Given the description of an element on the screen output the (x, y) to click on. 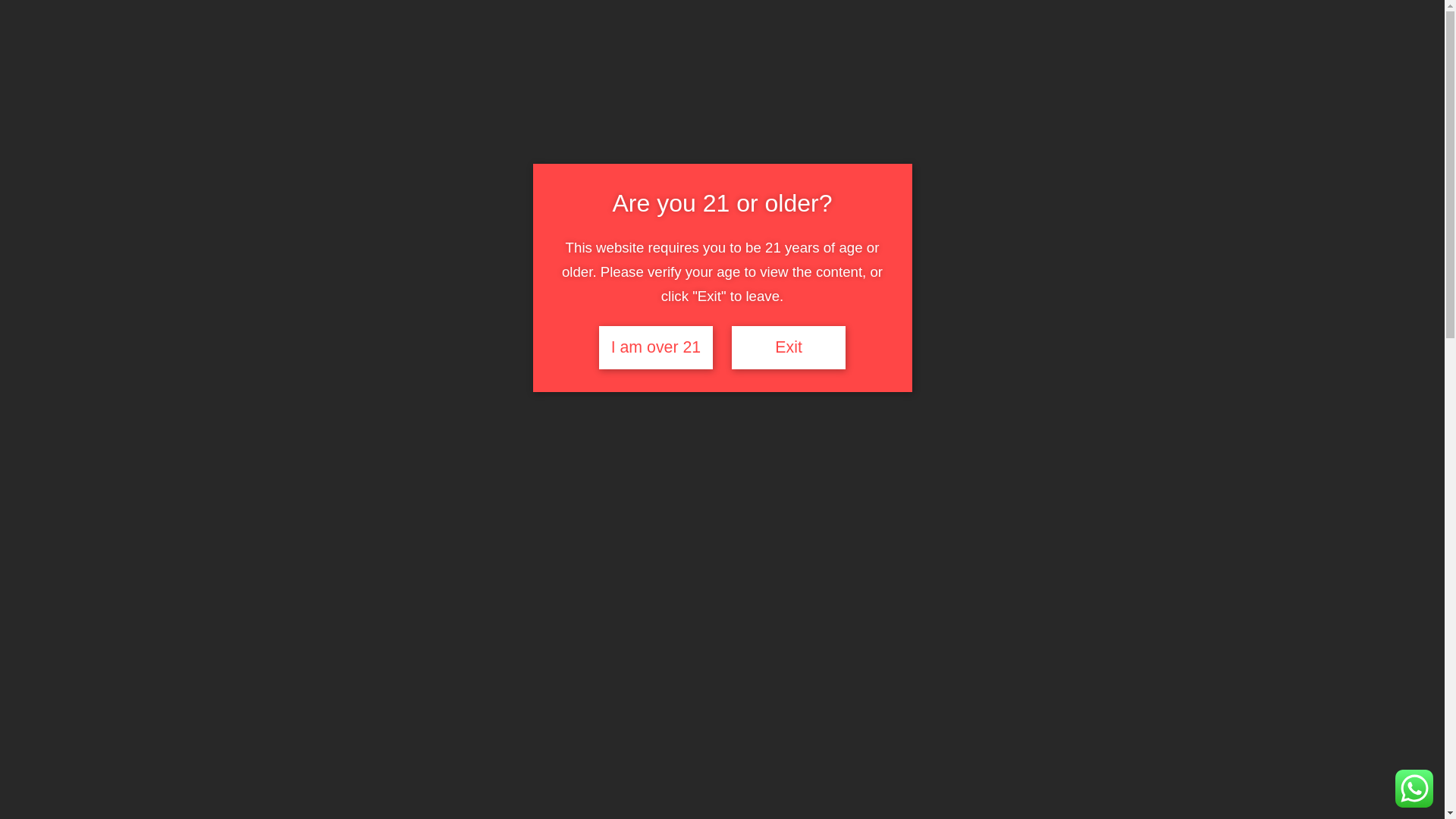
1300 250 296 (229, 17)
search (961, 73)
HOME (410, 132)
Drag-S2-Kit-1 (382, 697)
DRAG-S2-MTL-KIT-COMPLETO-VOOPOO (516, 697)
1 (841, 629)
SHOP BY BRAND (618, 132)
SHOP (536, 132)
ABOUT US (474, 132)
VooPoo-Drag-S2-Pod-Vape (248, 697)
